Given the description of an element on the screen output the (x, y) to click on. 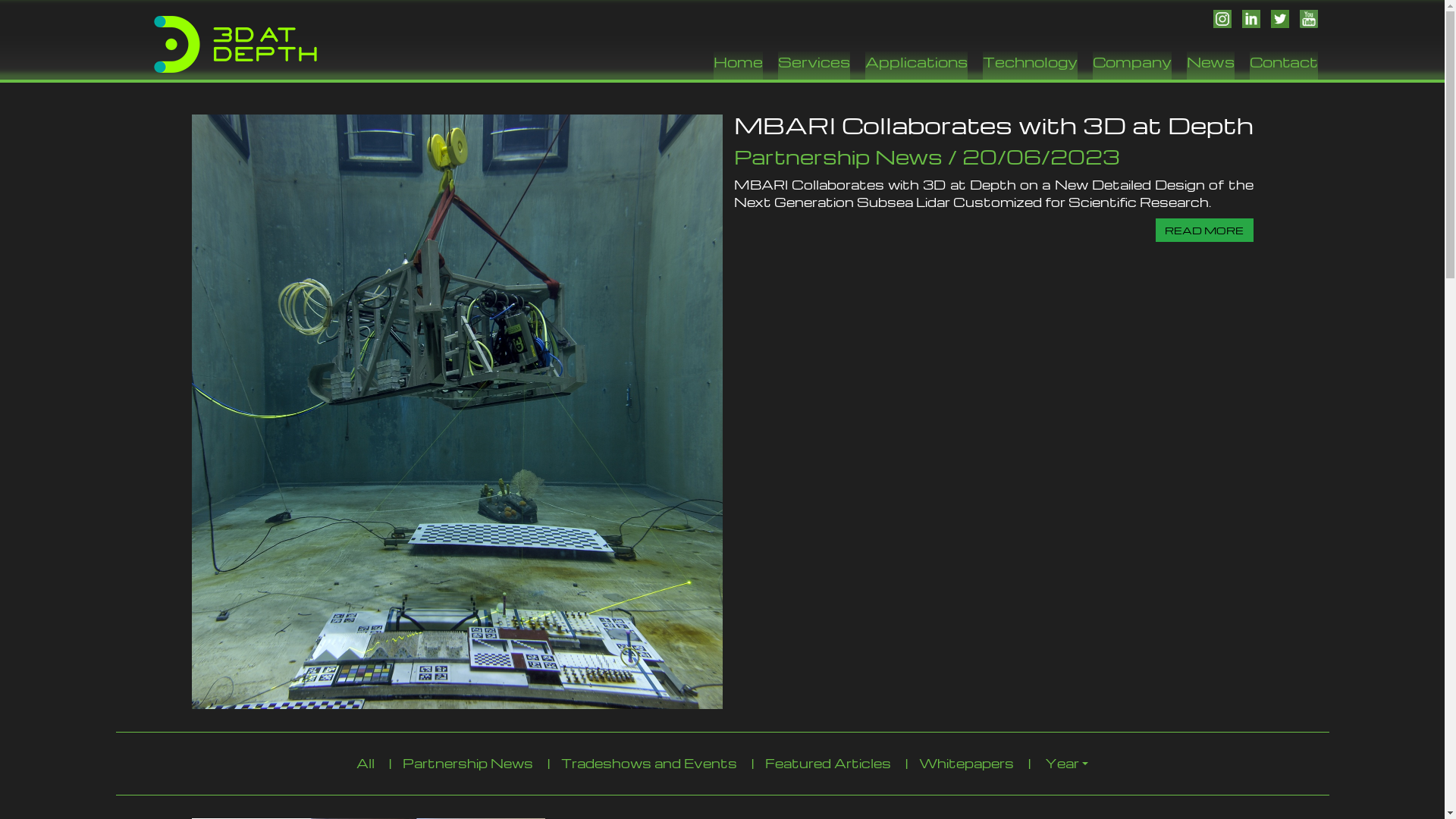
Featured Articles Element type: text (827, 763)
Tradeshows and Events Element type: text (648, 763)
Contact Element type: text (1283, 65)
MBARI Collaborates with 3D at Depth Element type: text (993, 124)
Applications Element type: text (915, 65)
Partnership News Element type: text (467, 763)
Home Element type: text (737, 65)
Whitepapers Element type: text (966, 763)
Company Element type: text (1131, 65)
News Element type: text (1209, 65)
Year Element type: text (1066, 763)
All Element type: text (365, 763)
READ MORE Element type: text (1204, 229)
Services Element type: text (814, 65)
Technology Element type: text (1029, 65)
